Given the description of an element on the screen output the (x, y) to click on. 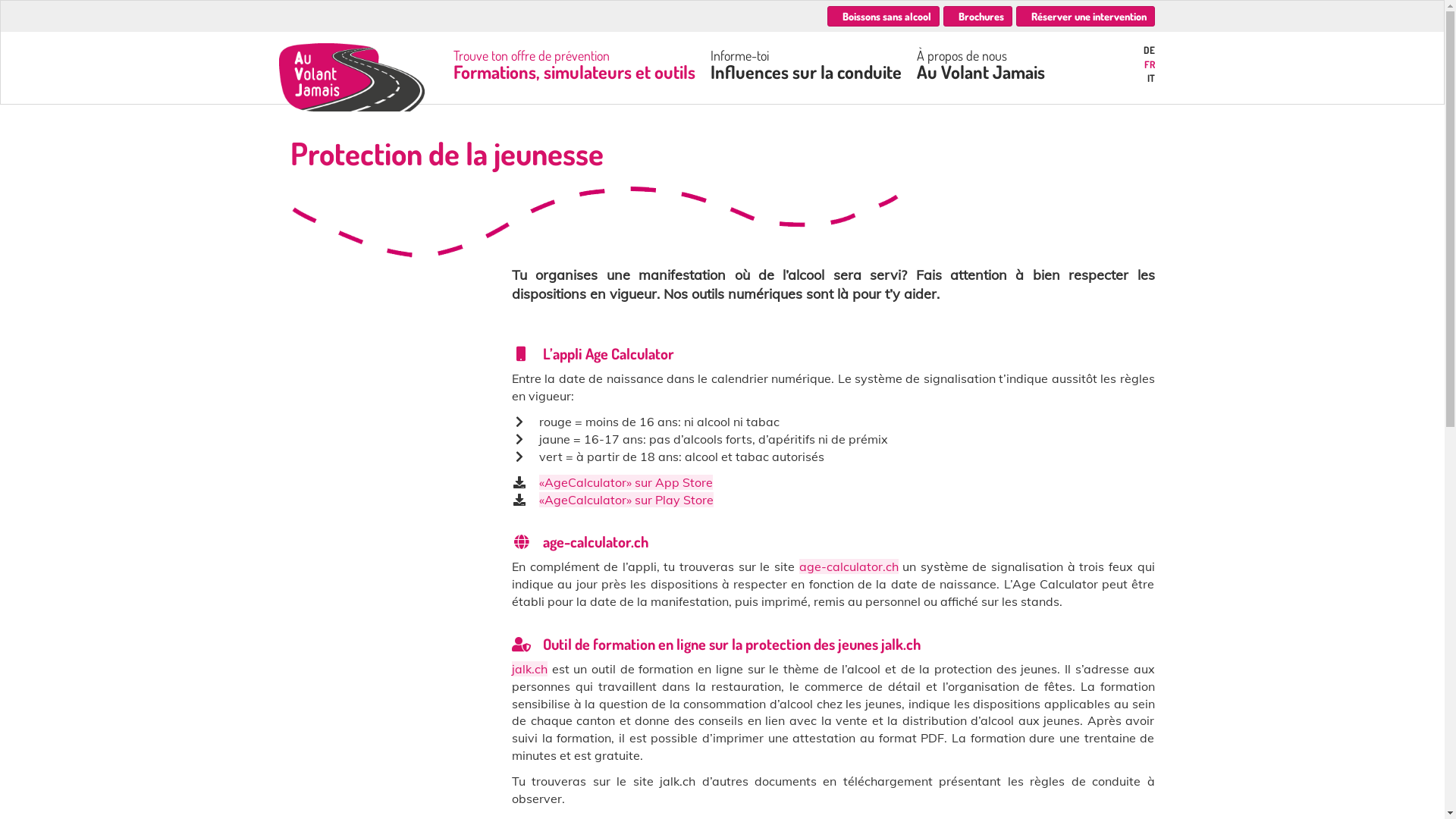
Informe-toi
Influences sur la conduite Element type: text (812, 72)
DE Element type: text (1128, 50)
jalk.ch Element type: text (529, 668)
FR Element type: text (1128, 64)
Boissons sans alcool Element type: text (882, 16)
age-calculator.ch Element type: text (848, 566)
IT Element type: text (1128, 78)
Brochures Element type: text (977, 16)
